Given the description of an element on the screen output the (x, y) to click on. 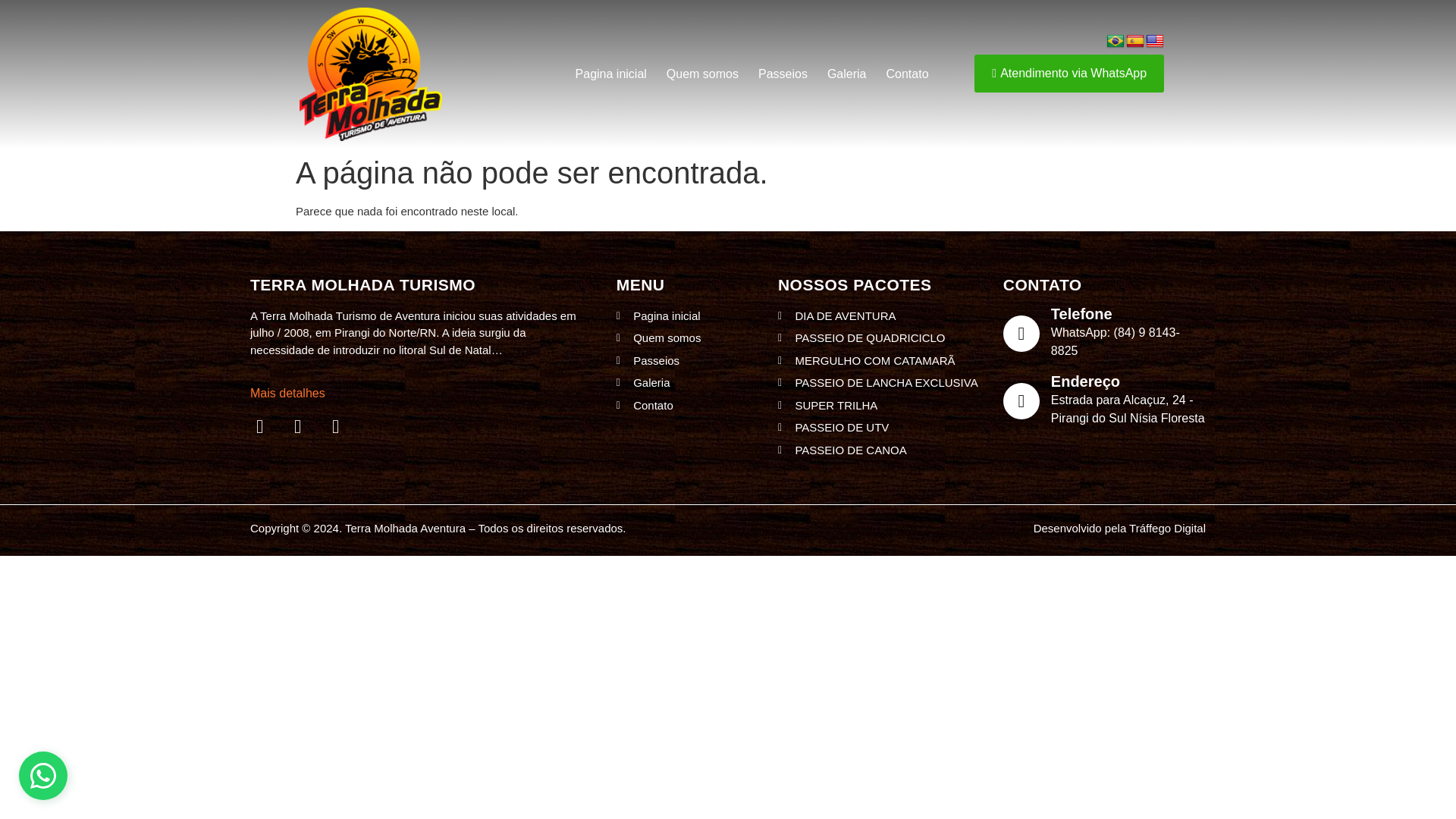
Quem somos (702, 73)
Mais detalhes (287, 393)
Portuguese (1115, 41)
Spanish (1134, 41)
Galeria (846, 73)
English (1154, 41)
Passeios (782, 73)
Pagina inicial (611, 73)
Atendimento via WhatsApp (1068, 73)
Contato (906, 73)
